Given the description of an element on the screen output the (x, y) to click on. 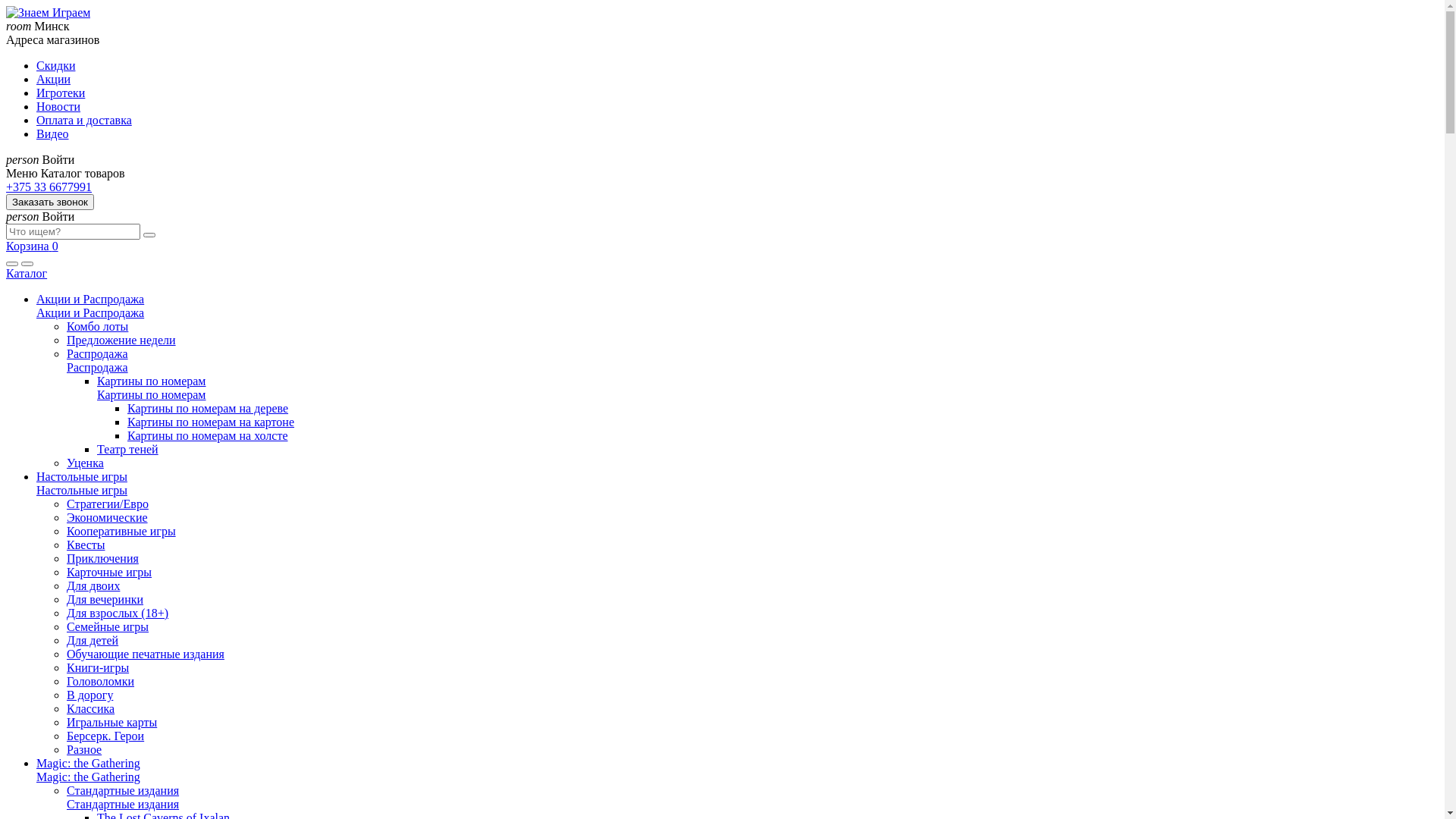
+375 33 6677991 Element type: text (48, 186)
Magic: the Gathering Element type: text (88, 762)
Magic: the Gathering Element type: text (88, 776)
